Given the description of an element on the screen output the (x, y) to click on. 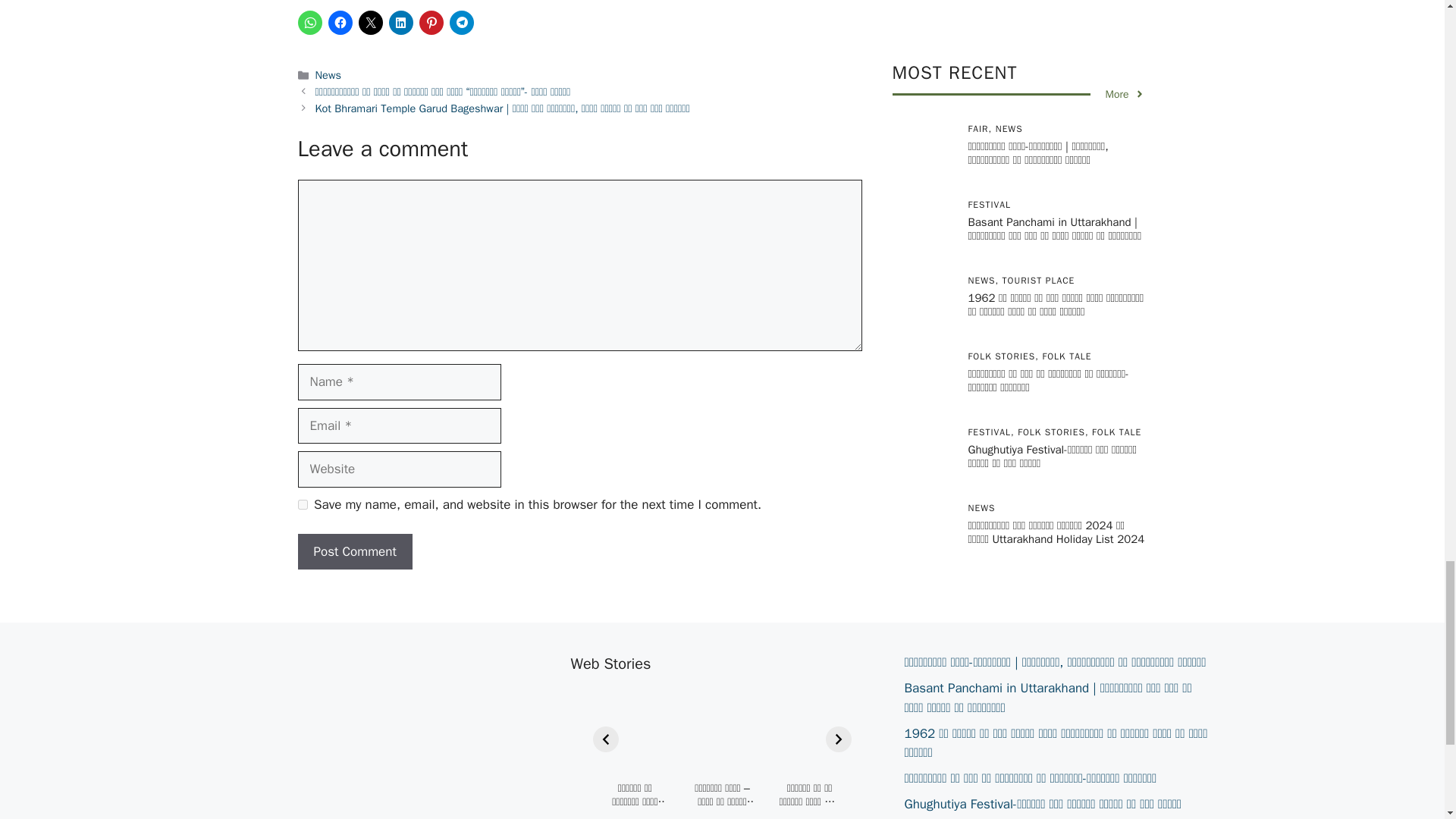
News (327, 74)
yes (302, 504)
Post Comment (354, 551)
Click to share on X (369, 22)
Click to share on LinkedIn (400, 22)
Click to share on Pinterest (430, 22)
Click to share on Facebook (339, 22)
Click to share on WhatsApp (309, 22)
Click to share on Telegram (460, 22)
Post Comment (354, 551)
